Given the description of an element on the screen output the (x, y) to click on. 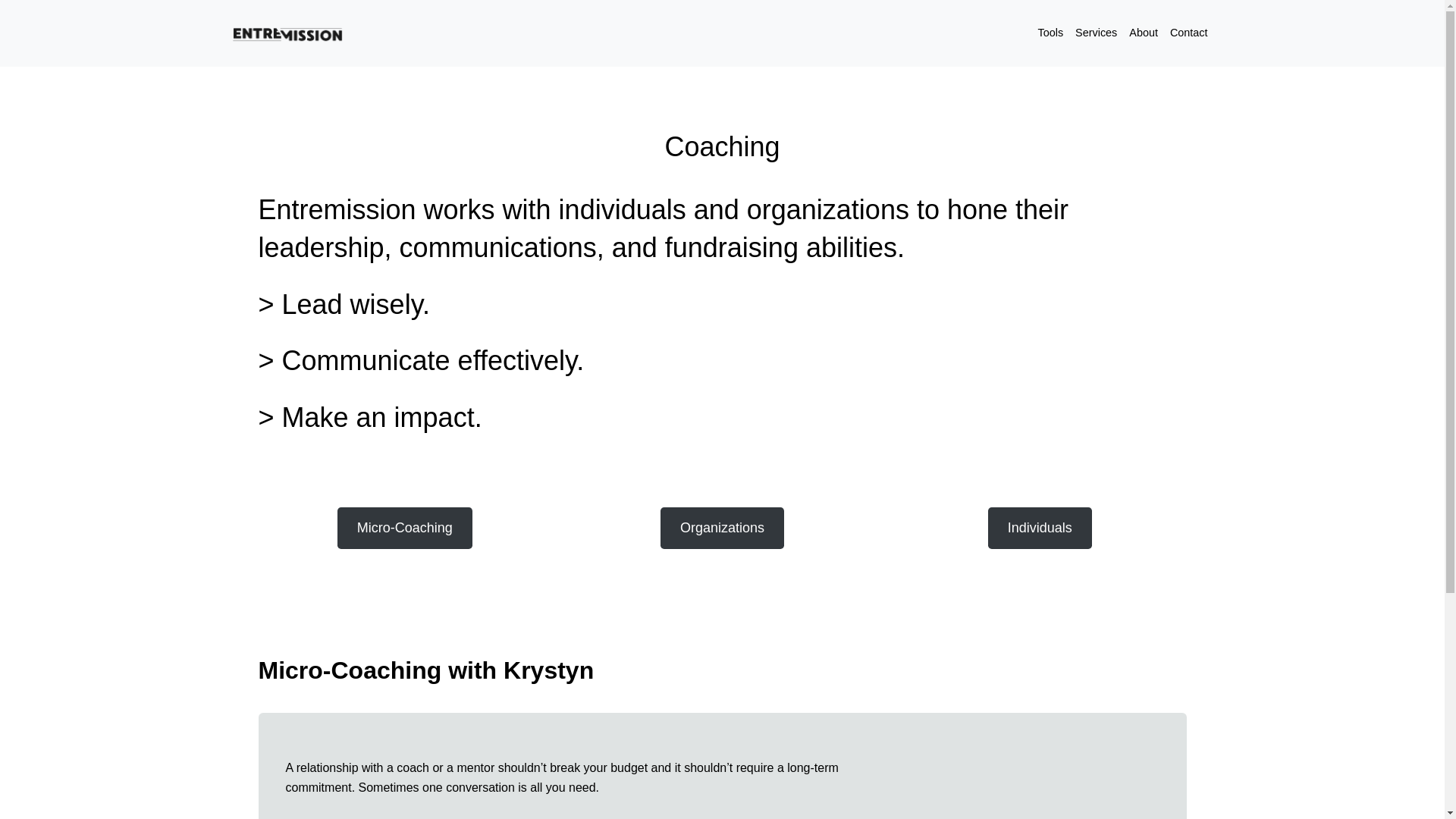
Contact (1188, 32)
Individuals (1040, 527)
About (1142, 32)
Tools (1049, 32)
Organizations (722, 527)
Services (1095, 32)
Micro-Coaching (404, 527)
